Given the description of an element on the screen output the (x, y) to click on. 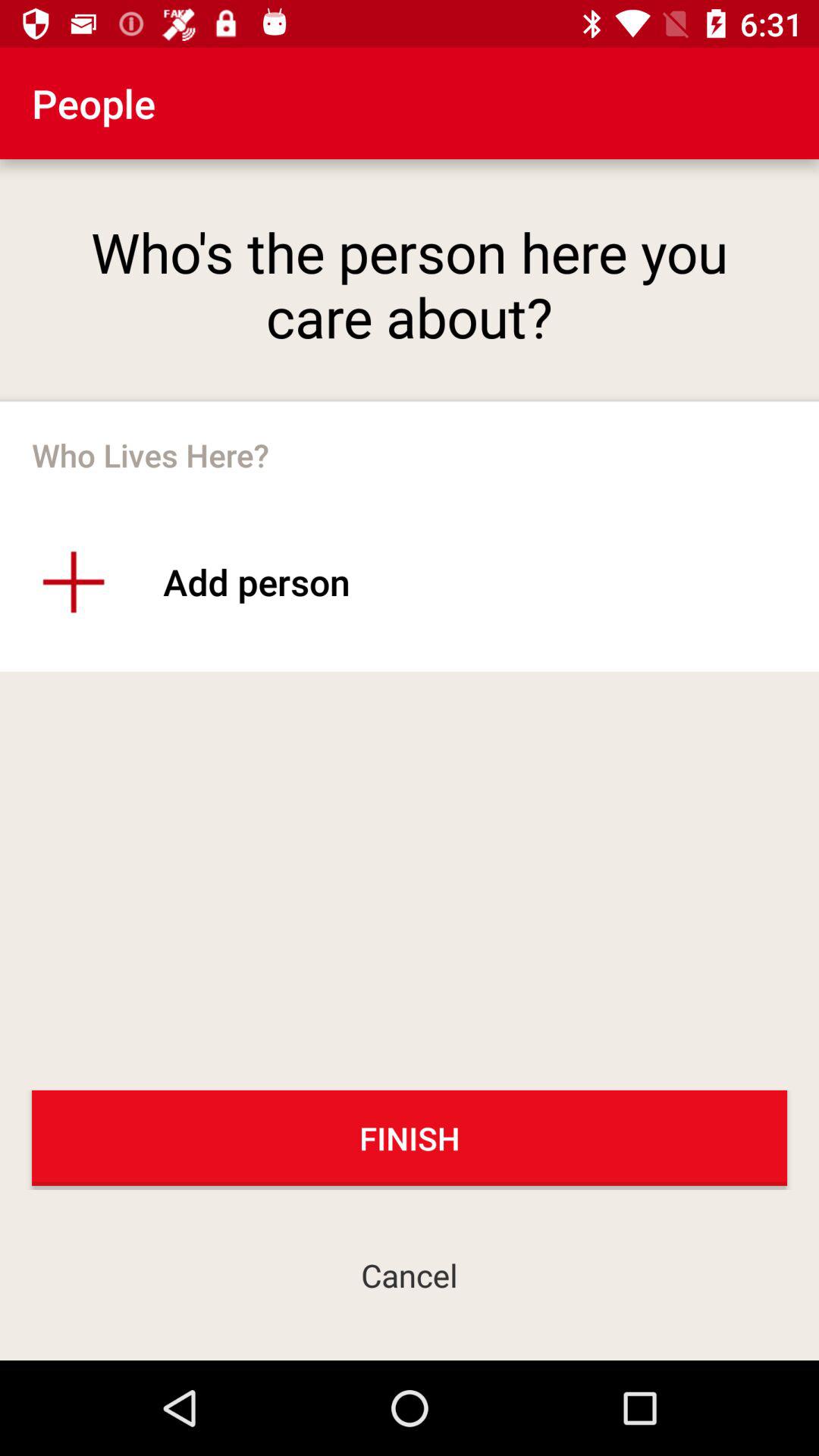
launch the cancel (409, 1274)
